Given the description of an element on the screen output the (x, y) to click on. 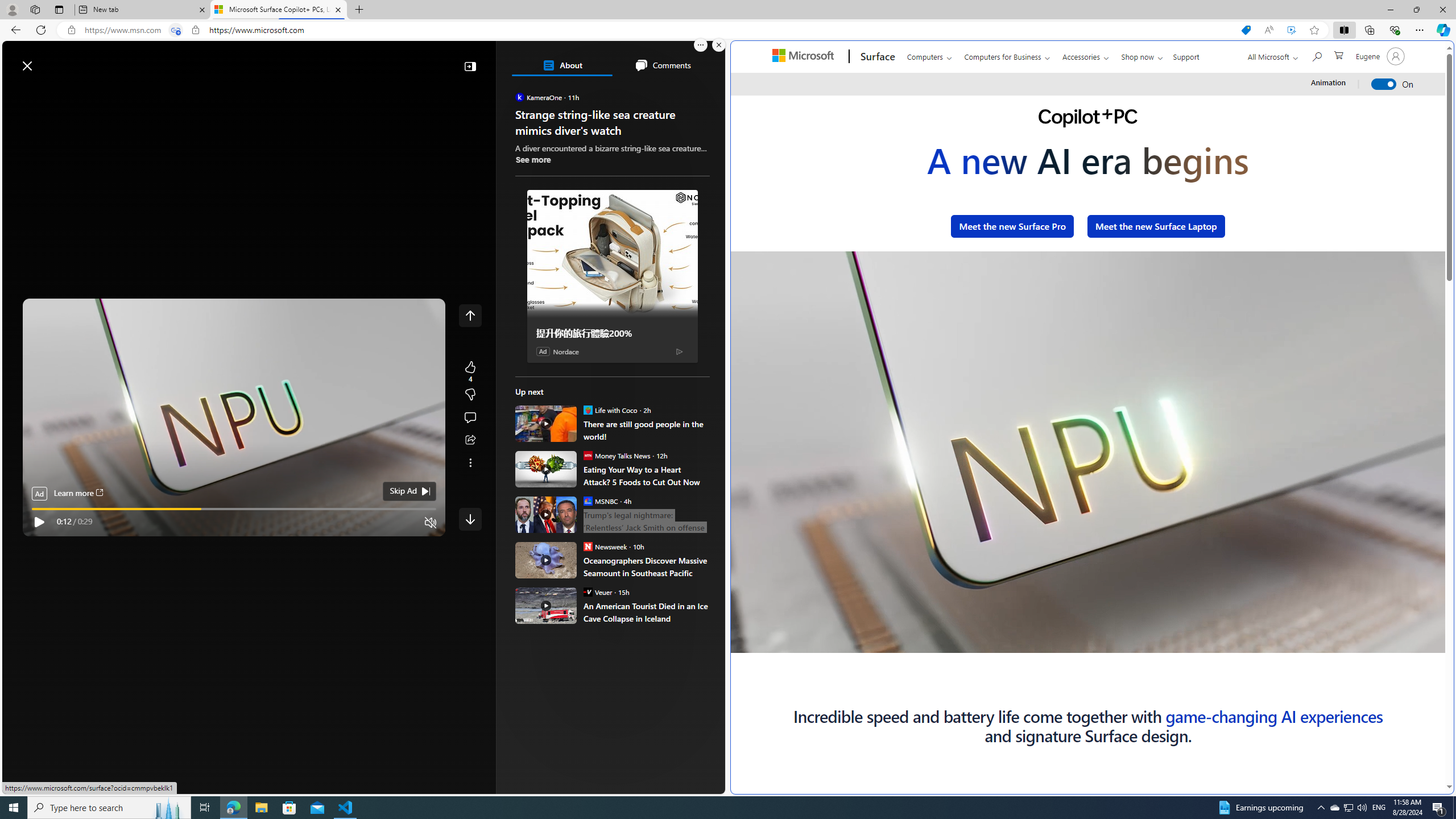
Skip to content (49, 59)
